Given the description of an element on the screen output the (x, y) to click on. 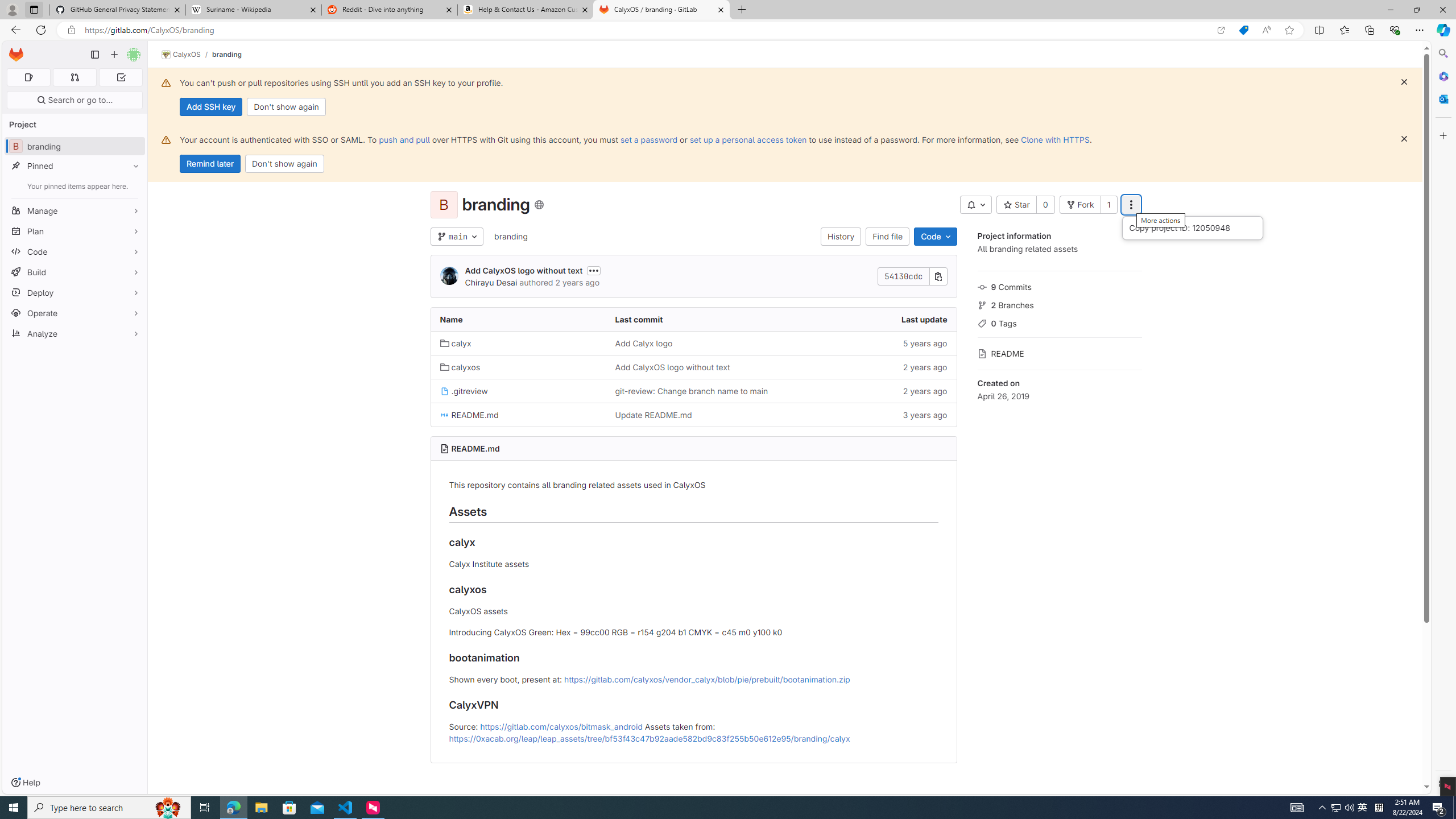
Add SSH key (211, 106)
Code (935, 236)
Chirayu Desai (490, 282)
CalyxOS/ (186, 54)
README (1058, 352)
2 Branches (1058, 304)
Create new... (113, 54)
main (456, 236)
2 Branches (1058, 304)
